Given the description of an element on the screen output the (x, y) to click on. 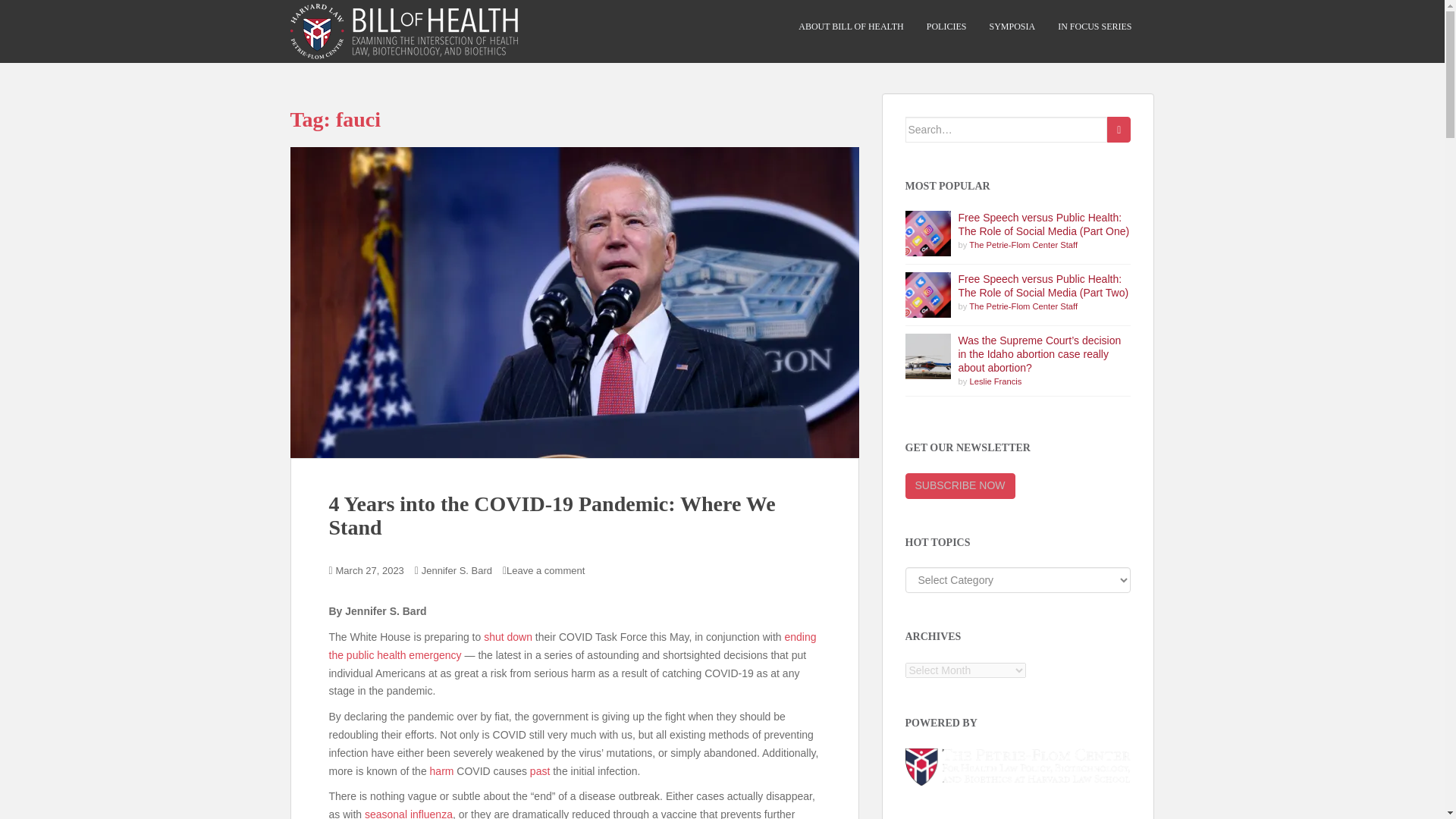
Search for: (1006, 129)
past (539, 770)
Leave a comment (545, 570)
4 Years into the COVID-19 Pandemic: Where We Stand (552, 515)
IN FOCUS SERIES (1094, 26)
ending the public health emergency (572, 645)
seasonal influenza (408, 813)
POLICIES (946, 26)
harm (441, 770)
